Given the description of an element on the screen output the (x, y) to click on. 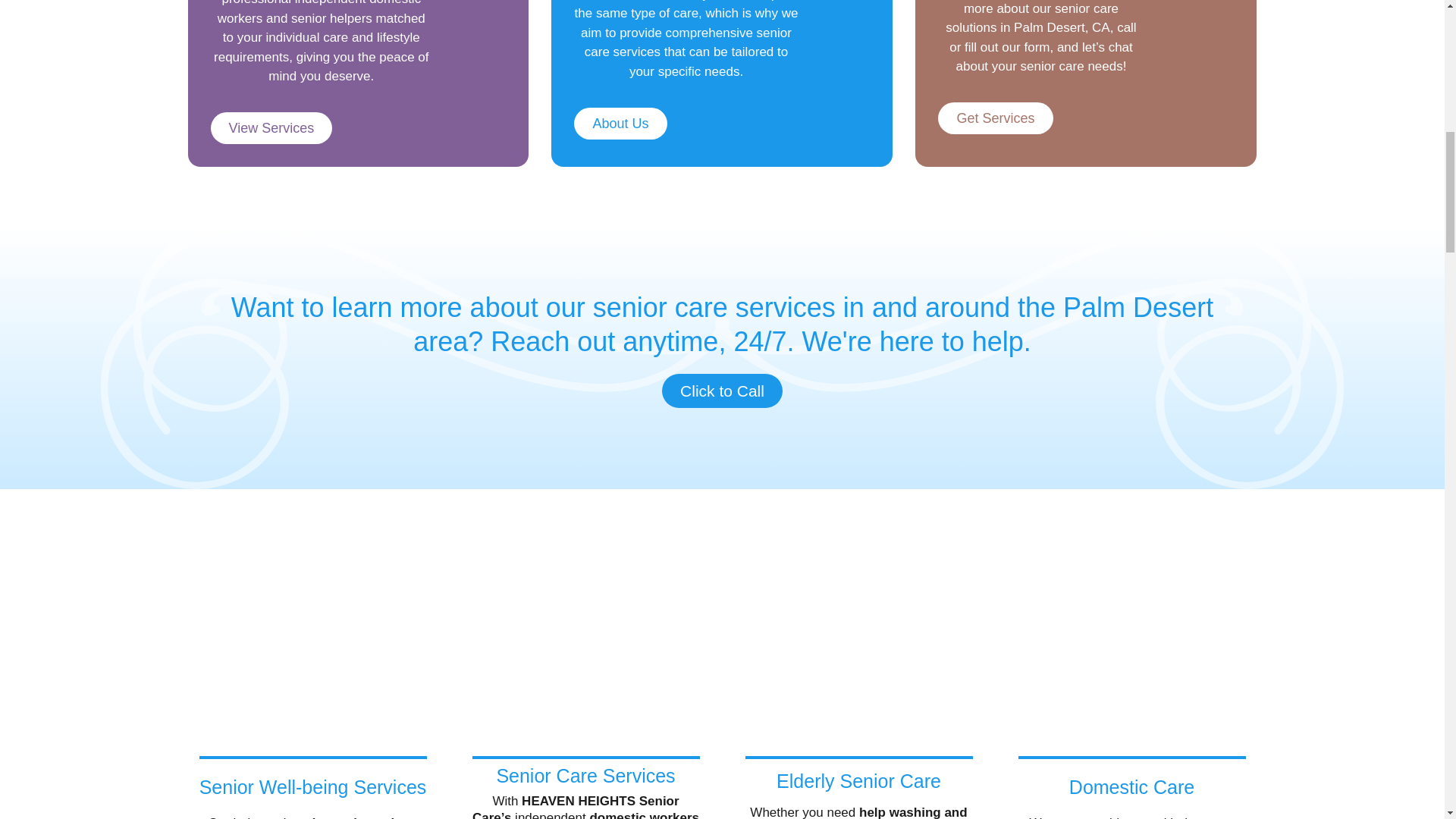
About Us (619, 123)
Get Services (994, 118)
View Services (272, 128)
Senior Care Services (585, 775)
Senior Well-being Services (312, 786)
Click to Call (722, 390)
Elderly Senior Care (858, 780)
